Given the description of an element on the screen output the (x, y) to click on. 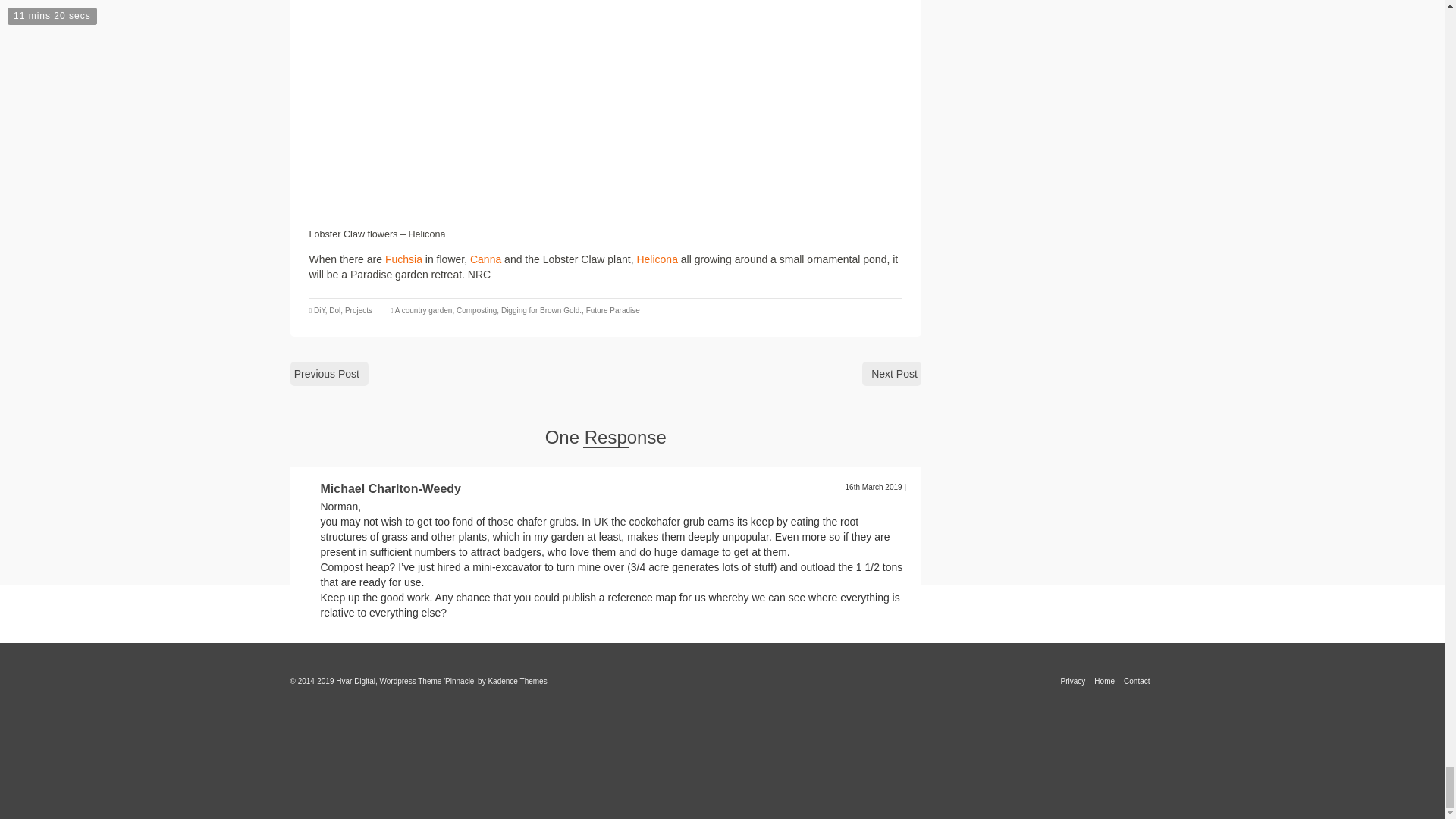
Previous Post (328, 373)
Fuchsia (403, 259)
Composting (476, 310)
Canna (485, 259)
DiY (319, 310)
Digging for Brown Gold. (540, 310)
Future Paradise (613, 310)
A country garden (423, 310)
Dol (334, 310)
Helicona (656, 259)
